Given the description of an element on the screen output the (x, y) to click on. 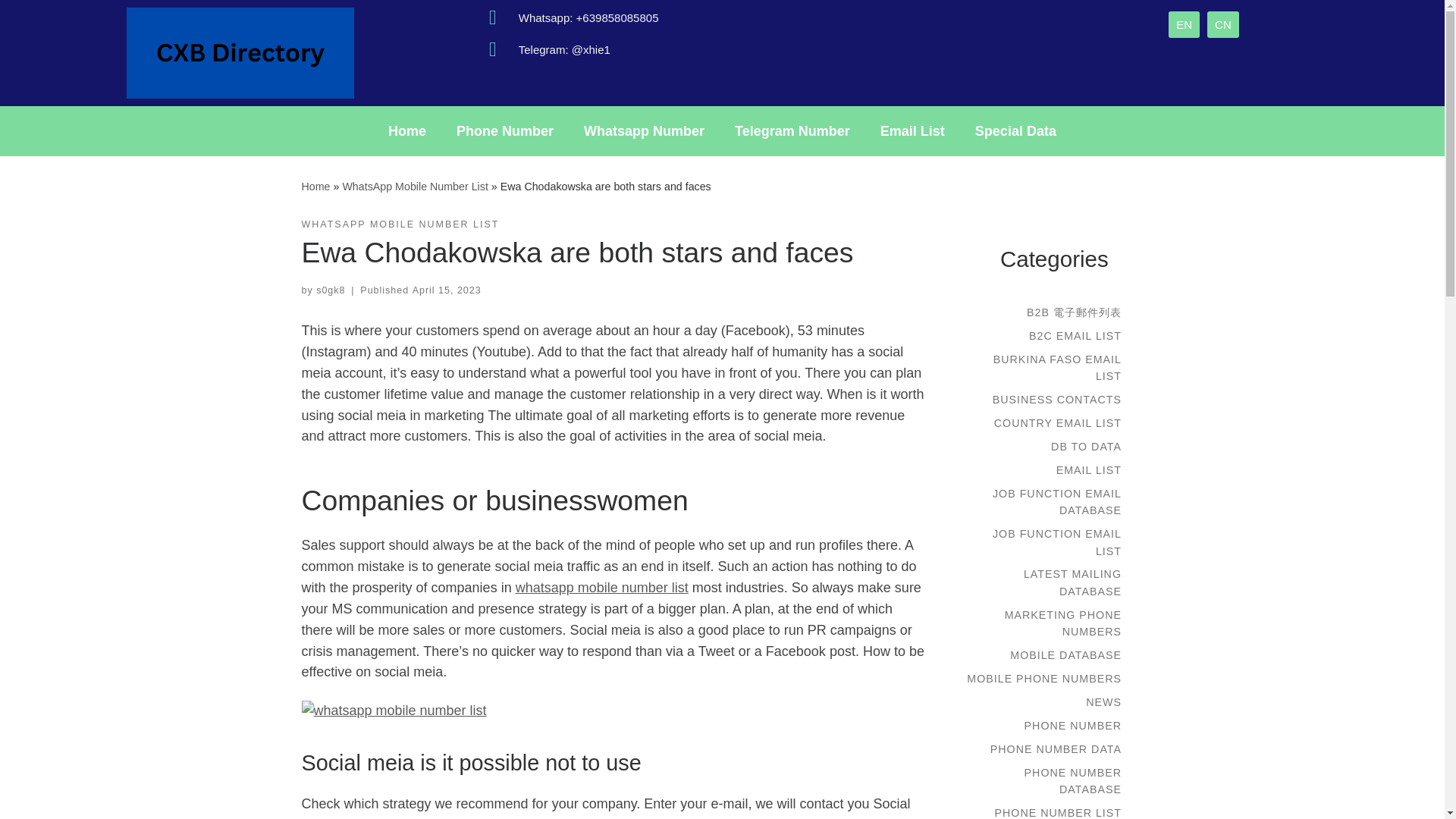
whatsapp mobile number list (601, 587)
5:47 am (446, 290)
Phone Number (505, 130)
WHATSAPP MOBILE NUMBER LIST (400, 224)
WhatsApp Mobile Number List (414, 186)
EN (1184, 24)
Email List (911, 130)
View all posts in WhatsApp Mobile Number List (400, 224)
CXB Directory (315, 186)
WhatsApp Mobile Number List (414, 186)
Home (406, 130)
s0gk8 (330, 290)
Home (315, 186)
Special Data (1015, 130)
CN (1223, 24)
